Given the description of an element on the screen output the (x, y) to click on. 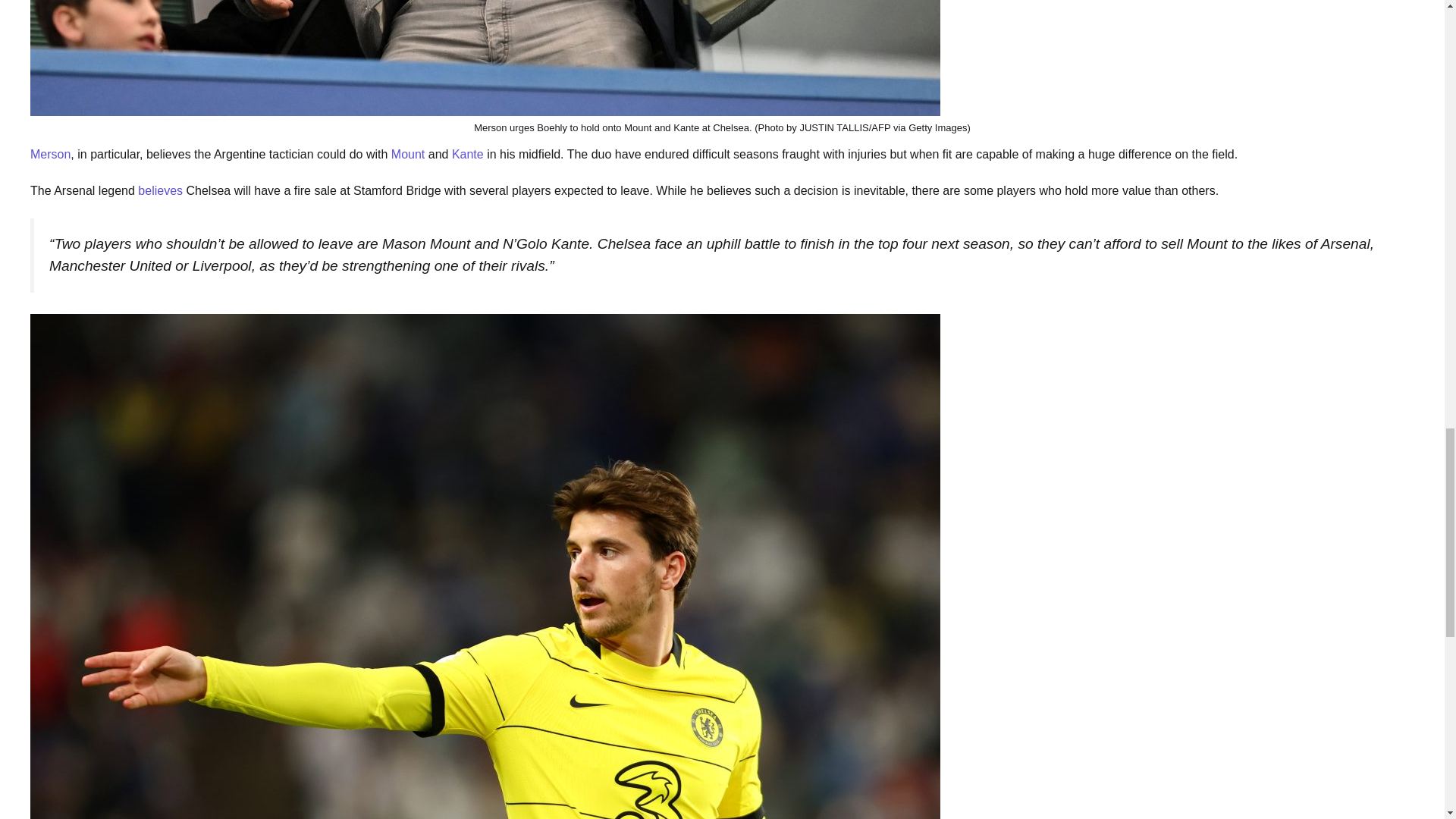
Kante (467, 154)
believes (160, 190)
Mount (408, 154)
Merson (49, 154)
